Given the description of an element on the screen output the (x, y) to click on. 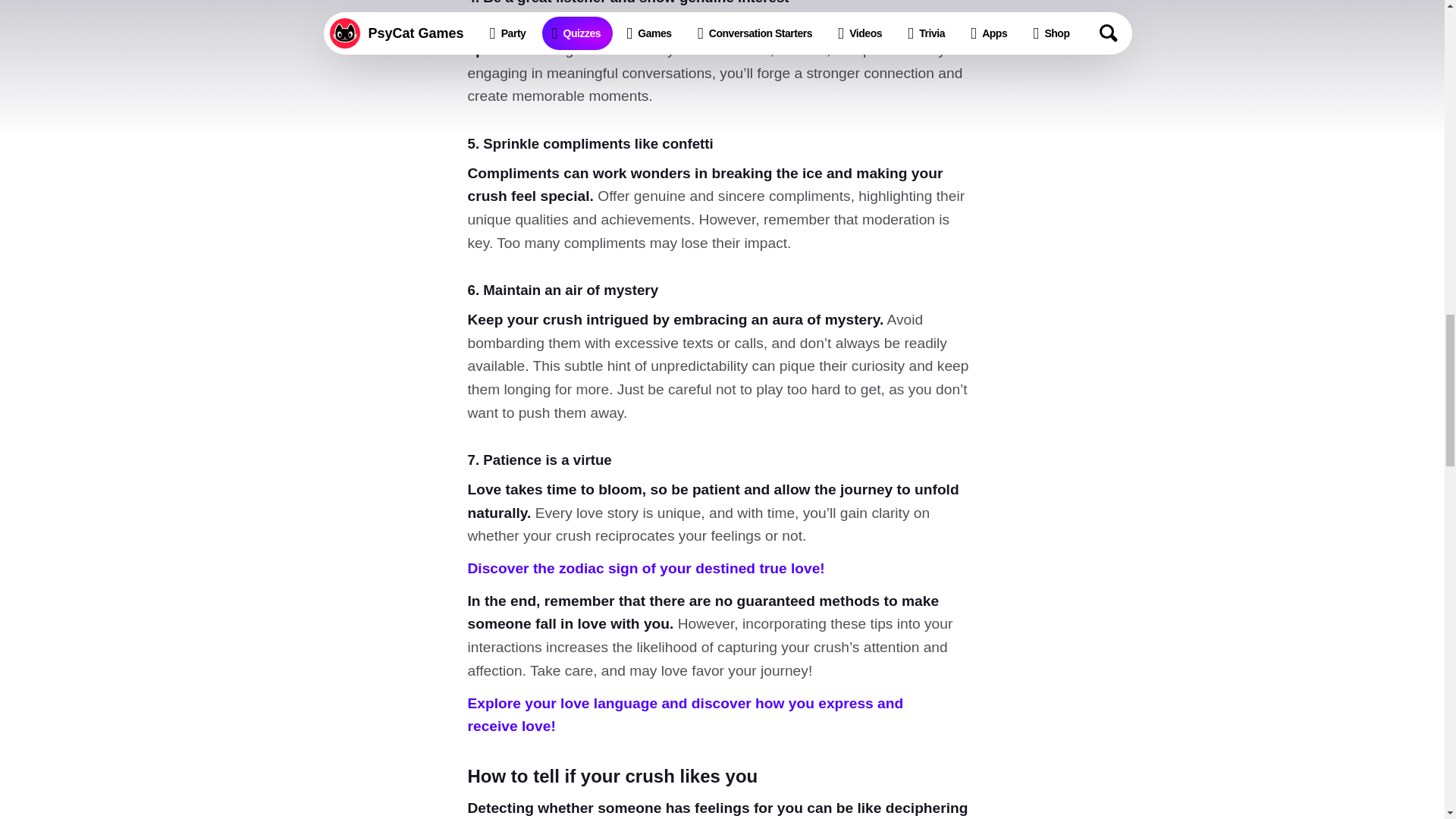
Discover the zodiac sign of your destined true love! (645, 568)
